Given the description of an element on the screen output the (x, y) to click on. 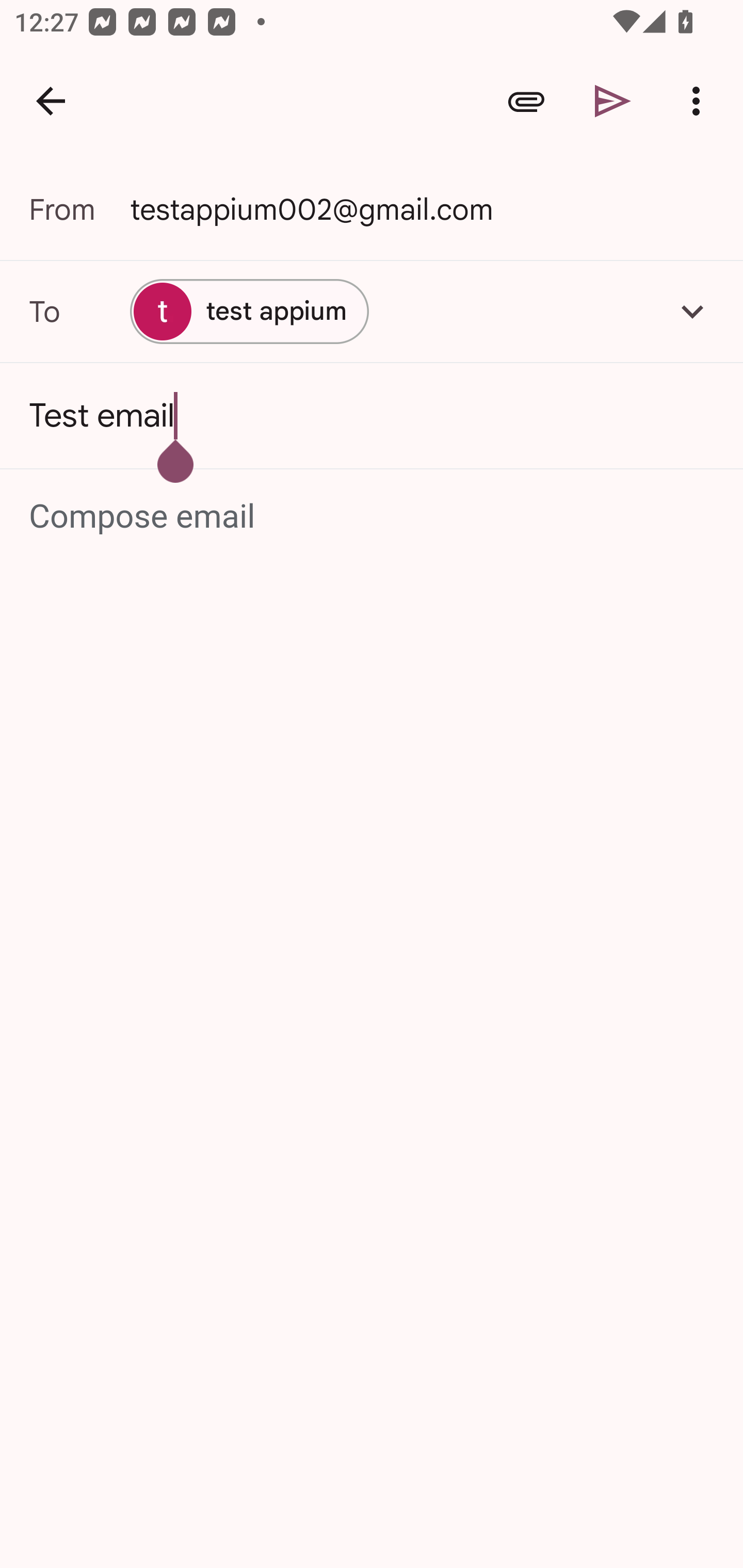
Navigate up (50, 101)
Attach file (525, 101)
Send (612, 101)
More options (699, 101)
From (79, 209)
Add Cc/Bcc (692, 311)
test appium test appium, testappium002@gmail.com (371, 311)
test appium test appium, testappium002@gmail.com (249, 311)
Test email (371, 415)
Compose email (372, 517)
